Given the description of an element on the screen output the (x, y) to click on. 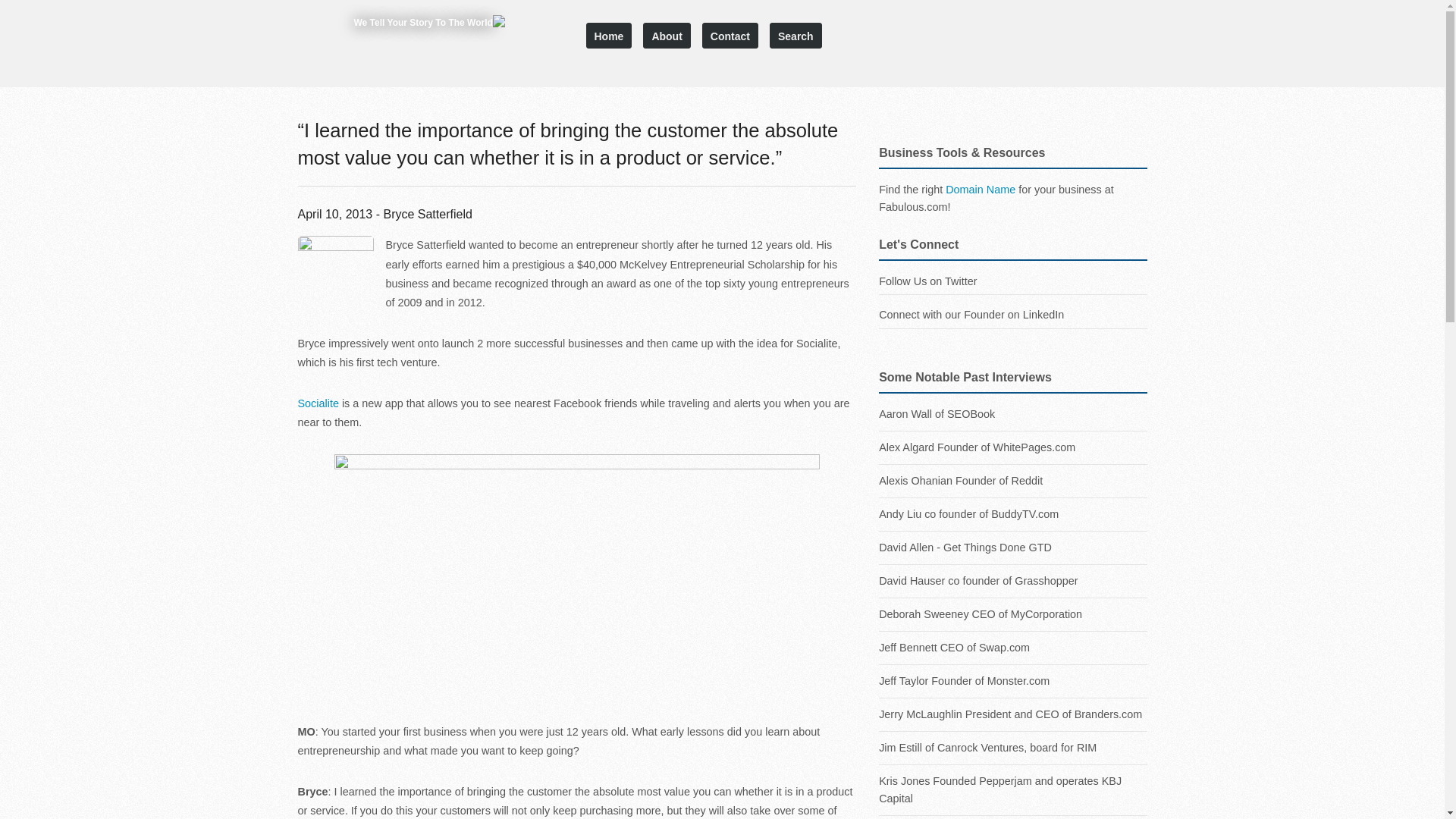
Follow Us on Twitter (927, 281)
Contact (729, 35)
Aaron Wall of SEOBook (1013, 326)
Andy Liu co founder of BuddyTV.com (1013, 514)
Jeff Taylor Founder of Monster.com (1013, 681)
Socialite (576, 577)
About (666, 35)
Domain Name (979, 189)
David Allen - Get Things Done GTD (1013, 547)
Alexis Ohanian Founder of Reddit (1013, 480)
